Given the description of an element on the screen output the (x, y) to click on. 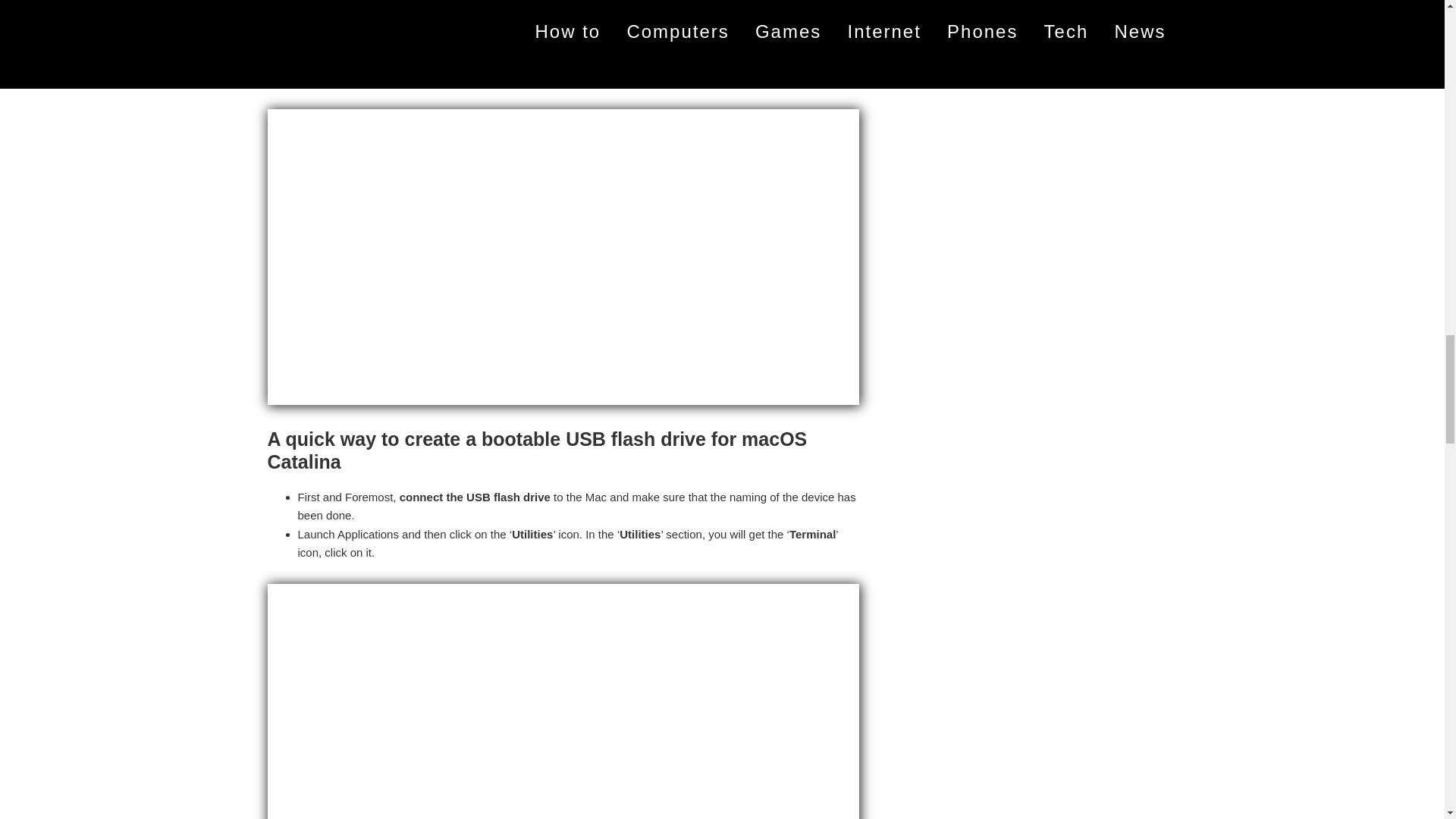
How to Create a Bootable USB for macOS Catalina? (562, 13)
